Given the description of an element on the screen output the (x, y) to click on. 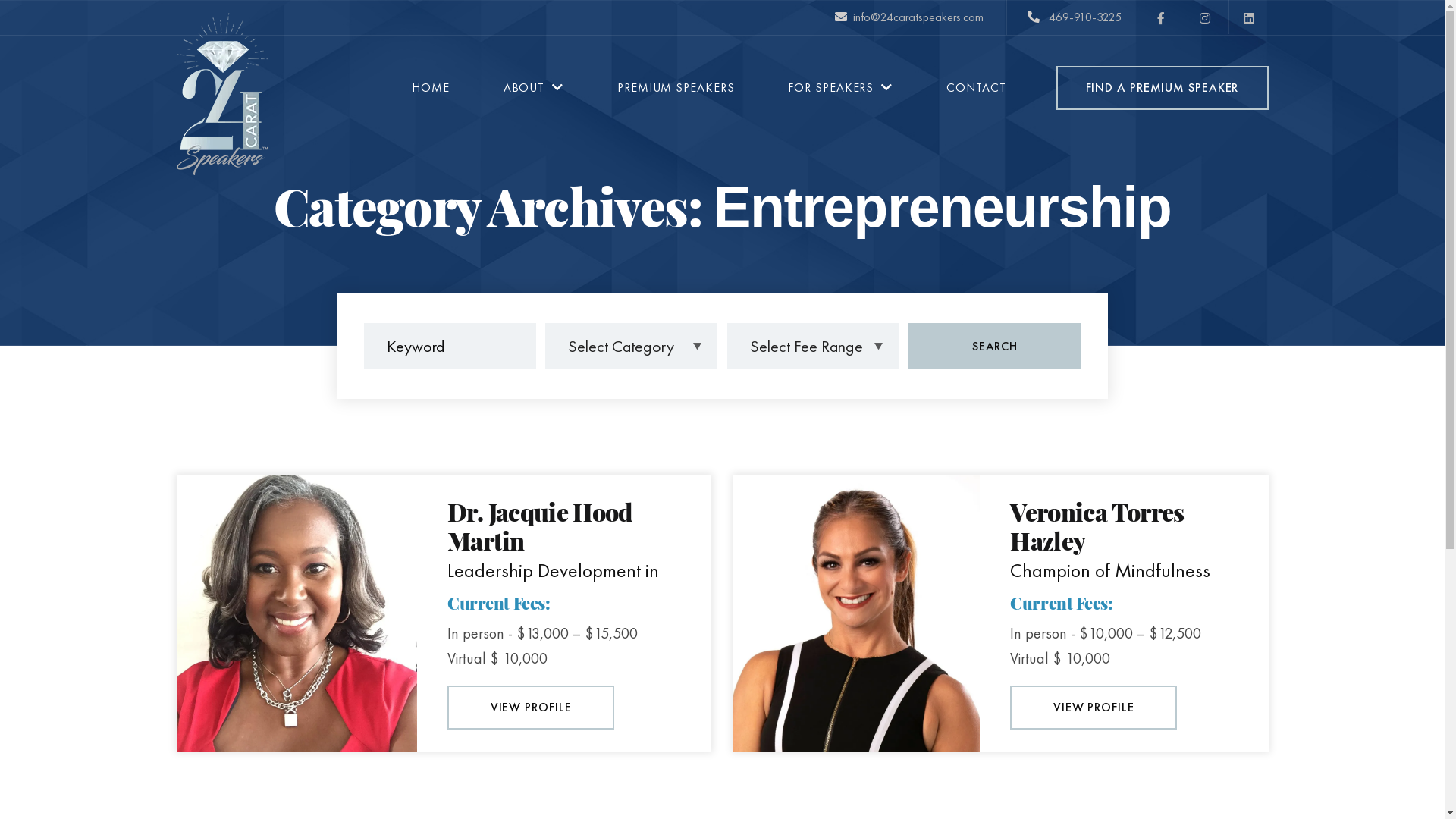
info@24caratspeakers.com Element type: text (907, 17)
HOME Element type: text (430, 87)
FIND A PREMIUM SPEAKER Element type: text (1161, 87)
VIEW PROFILE Element type: text (1093, 707)
Veronica Torres Hazley Element type: text (1096, 525)
FOR SPEAKERS Element type: text (839, 87)
CONTACT Element type: text (975, 87)
VIEW PROFILE Element type: text (530, 707)
Search Element type: text (994, 345)
469-910-3225 Element type: text (1072, 17)
ABOUT Element type: text (533, 87)
Dr. Jacquie Hood Martin Element type: text (539, 525)
PREMIUM SPEAKERS Element type: text (675, 87)
